Given the description of an element on the screen output the (x, y) to click on. 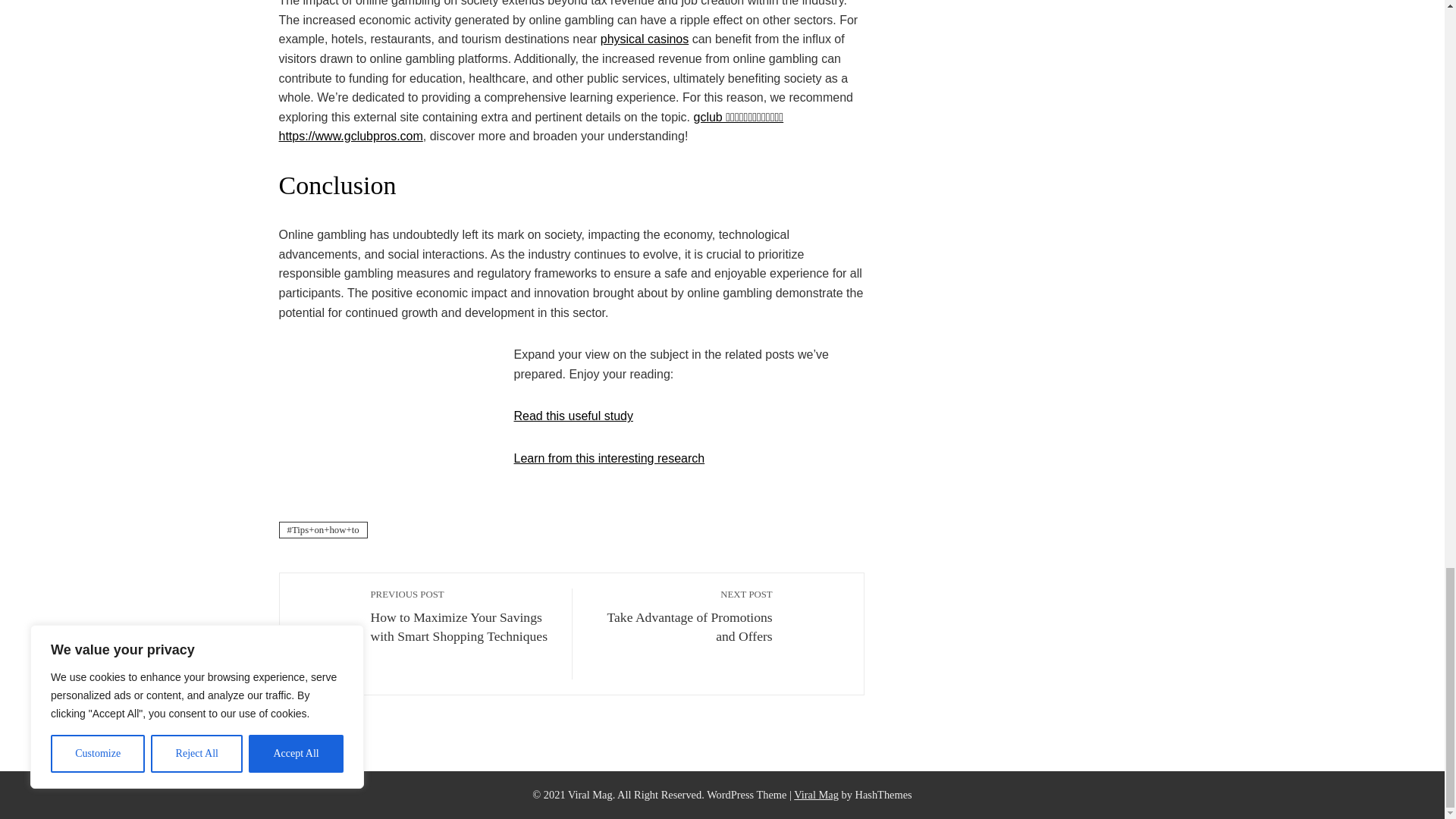
Read this useful study (573, 415)
Learn from this interesting research (680, 615)
physical casinos (608, 458)
Download Viral News (643, 38)
